Given the description of an element on the screen output the (x, y) to click on. 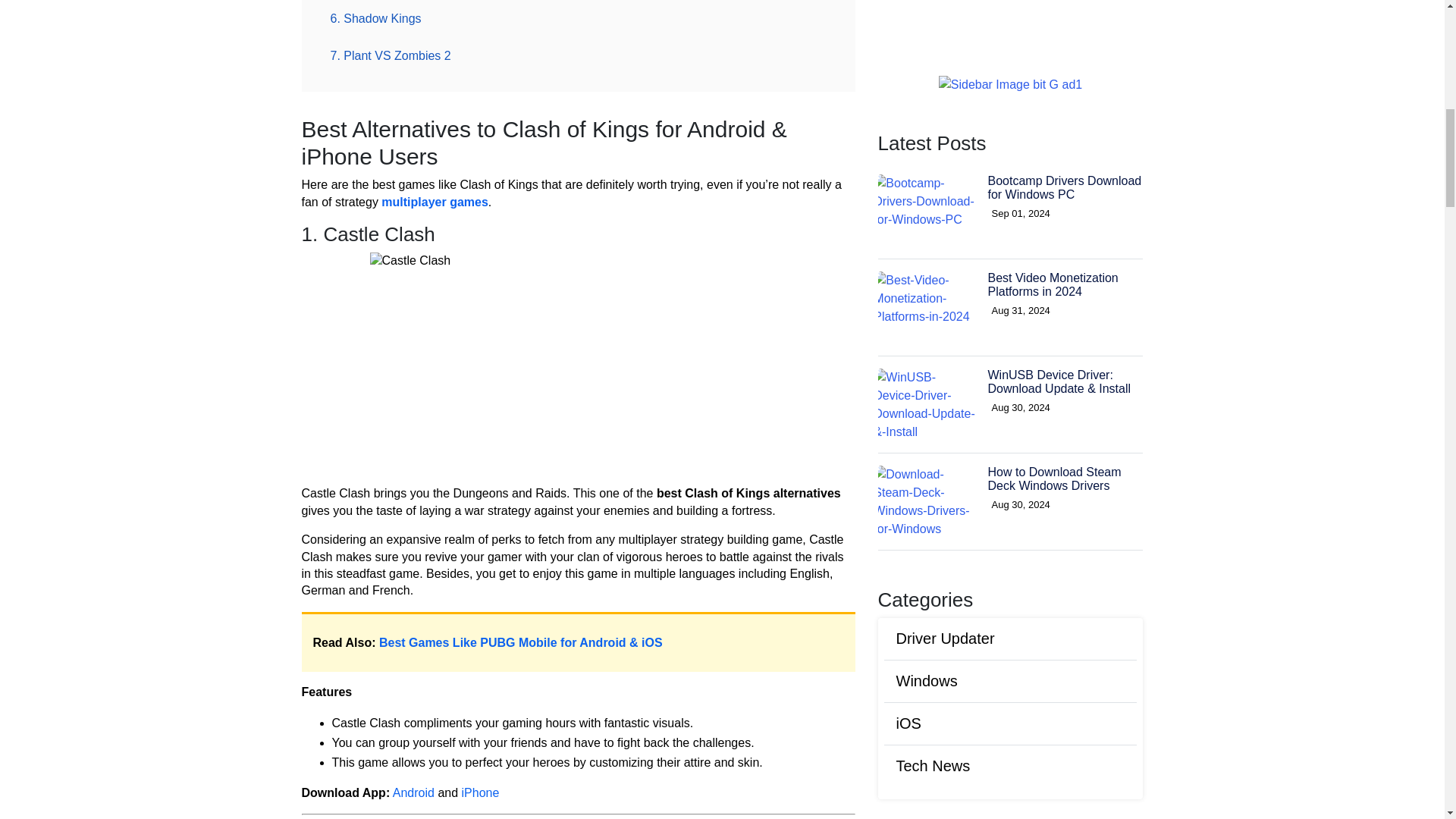
6. Shadow Kings (376, 18)
7. Plant VS Zombies 2 (390, 55)
multiplayer games (434, 201)
iPhone (480, 792)
Subscribe Now (1010, 662)
Android (413, 792)
